Given the description of an element on the screen output the (x, y) to click on. 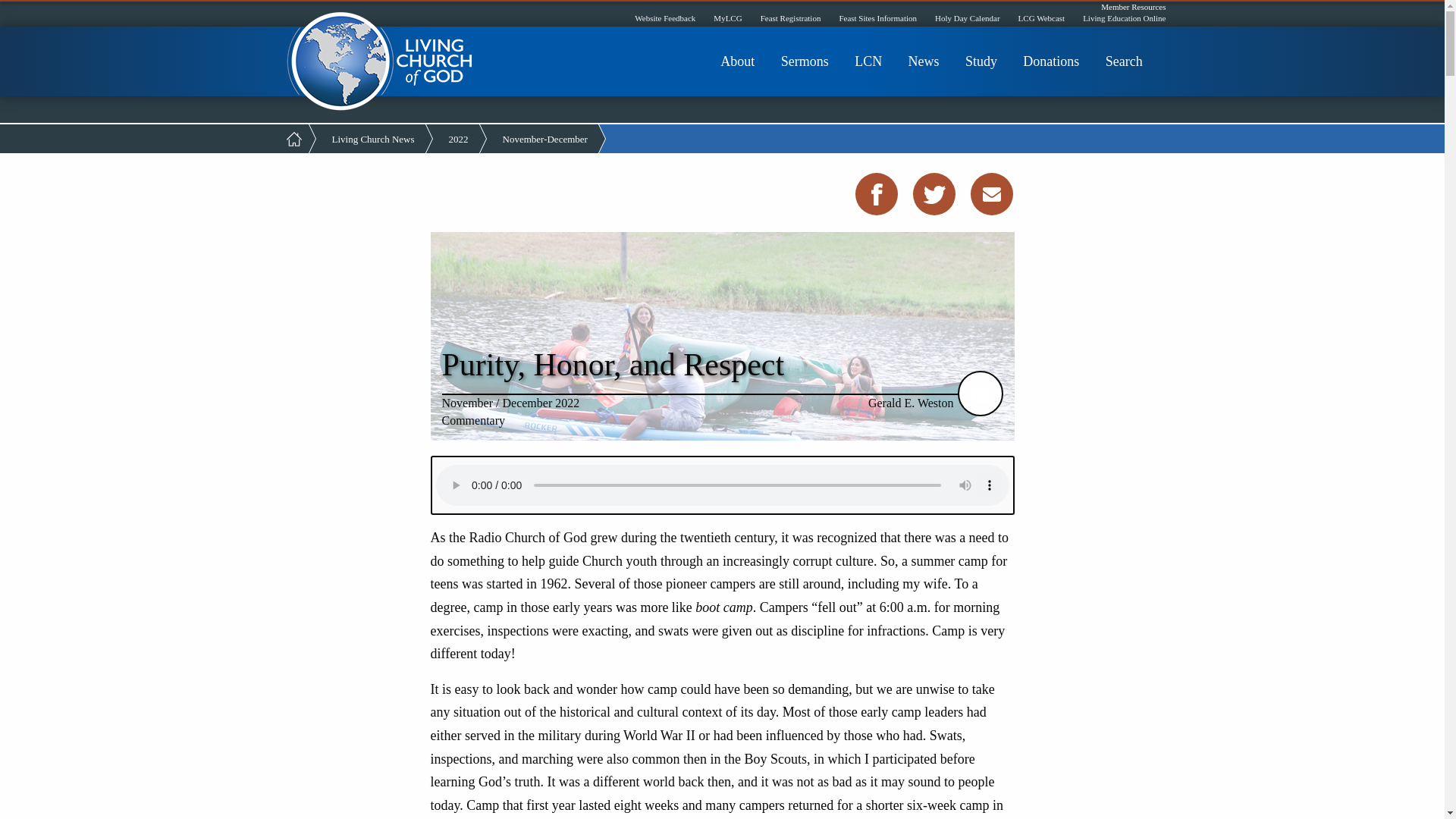
Online courses of learning for LCG members. (1124, 18)
LCG Members (384, 61)
Weekly Updates (928, 66)
MyLCG (727, 18)
Feast Registration (790, 18)
Living Education Online (1124, 18)
Holy Day Calendar (967, 18)
LCG Webcast (1041, 18)
Home (384, 61)
